Given the description of an element on the screen output the (x, y) to click on. 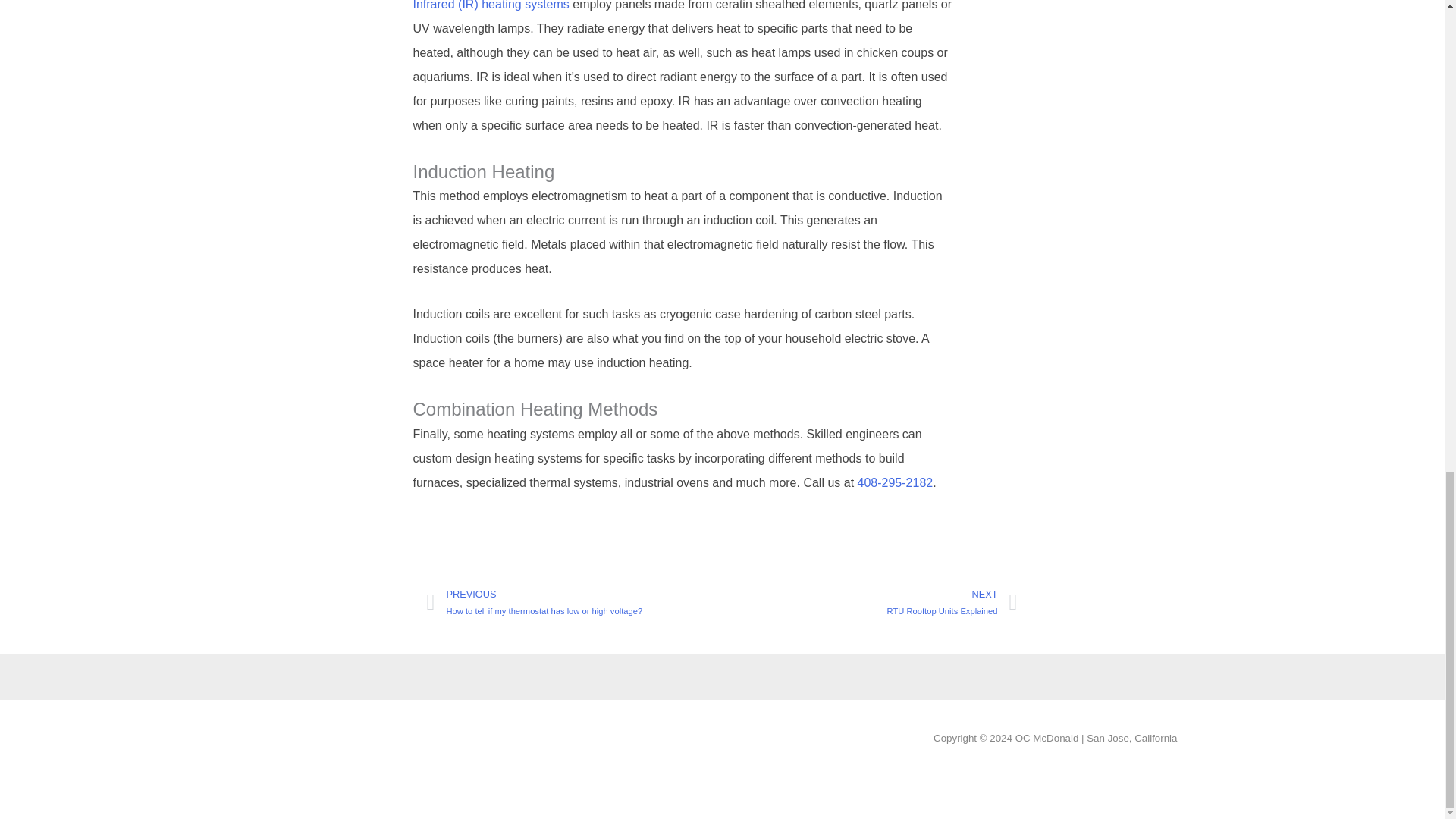
408-295-2182 (895, 481)
